Given the description of an element on the screen output the (x, y) to click on. 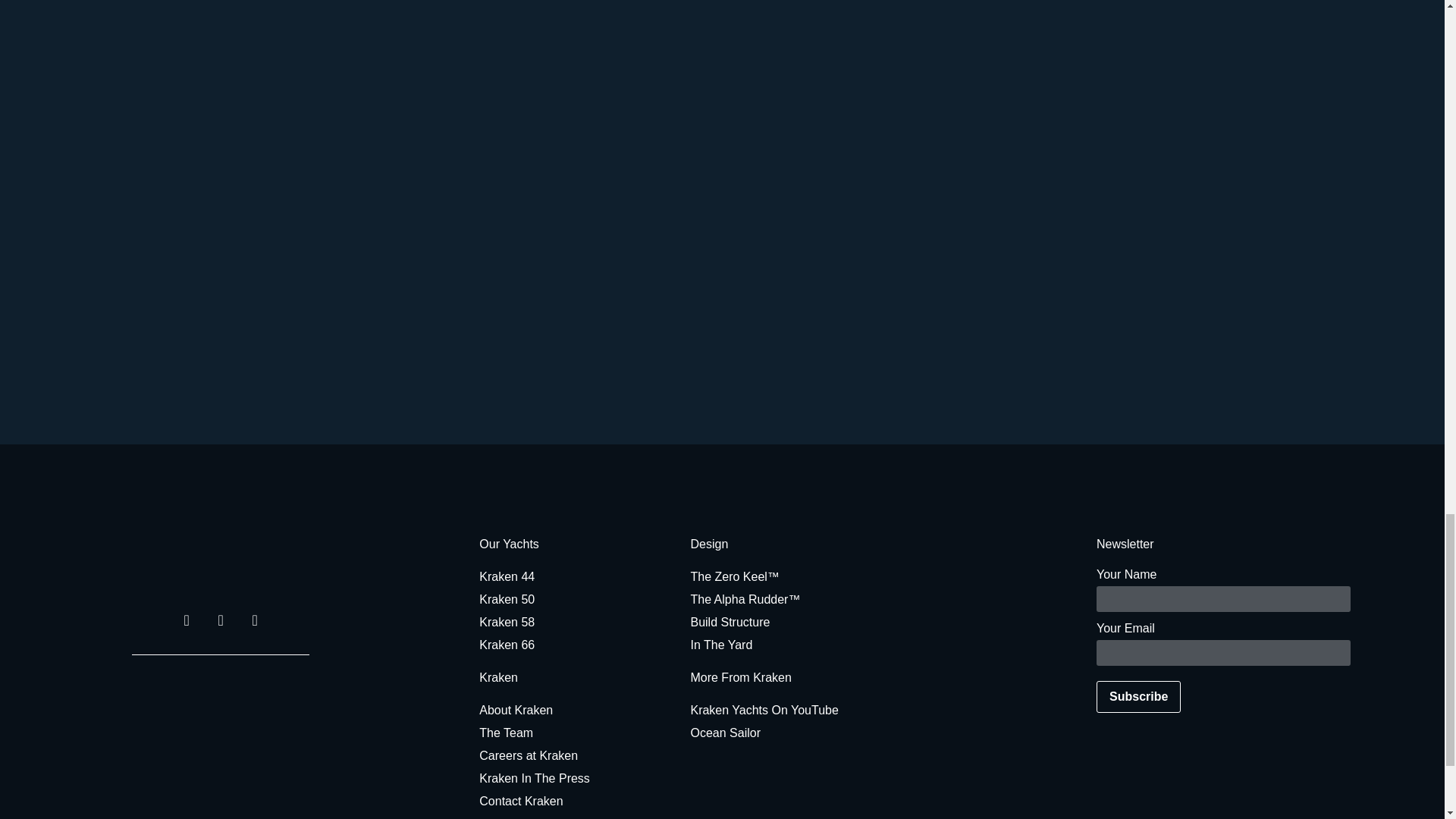
Kraken 44 (569, 576)
Kraken 58 (569, 621)
Kraken 50 (569, 599)
Kraken 66 (569, 644)
